Given the description of an element on the screen output the (x, y) to click on. 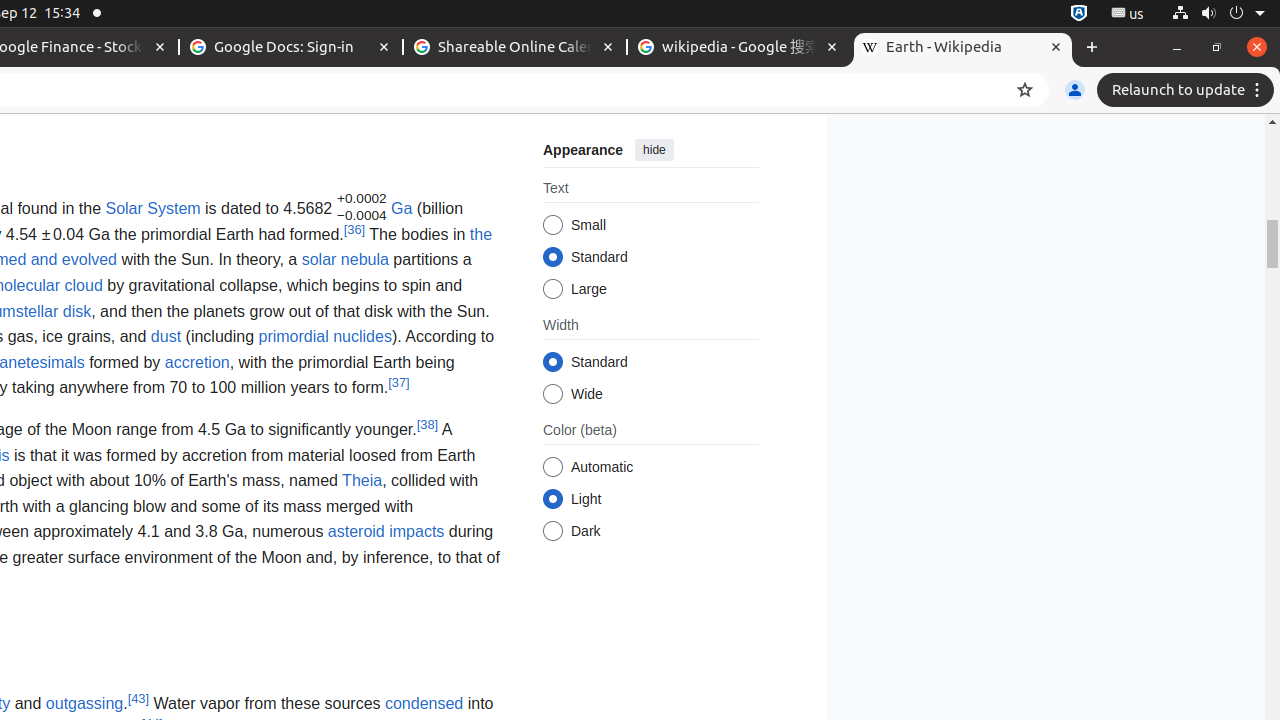
:1.21/StatusNotifierItem Element type: menu (1127, 13)
Google Docs: Sign-in - Memory usage - 33.3 MB Element type: page-tab (291, 47)
Large Element type: radio-button (552, 289)
outgassing Element type: link (84, 703)
[38] Element type: link (427, 423)
